Given the description of an element on the screen output the (x, y) to click on. 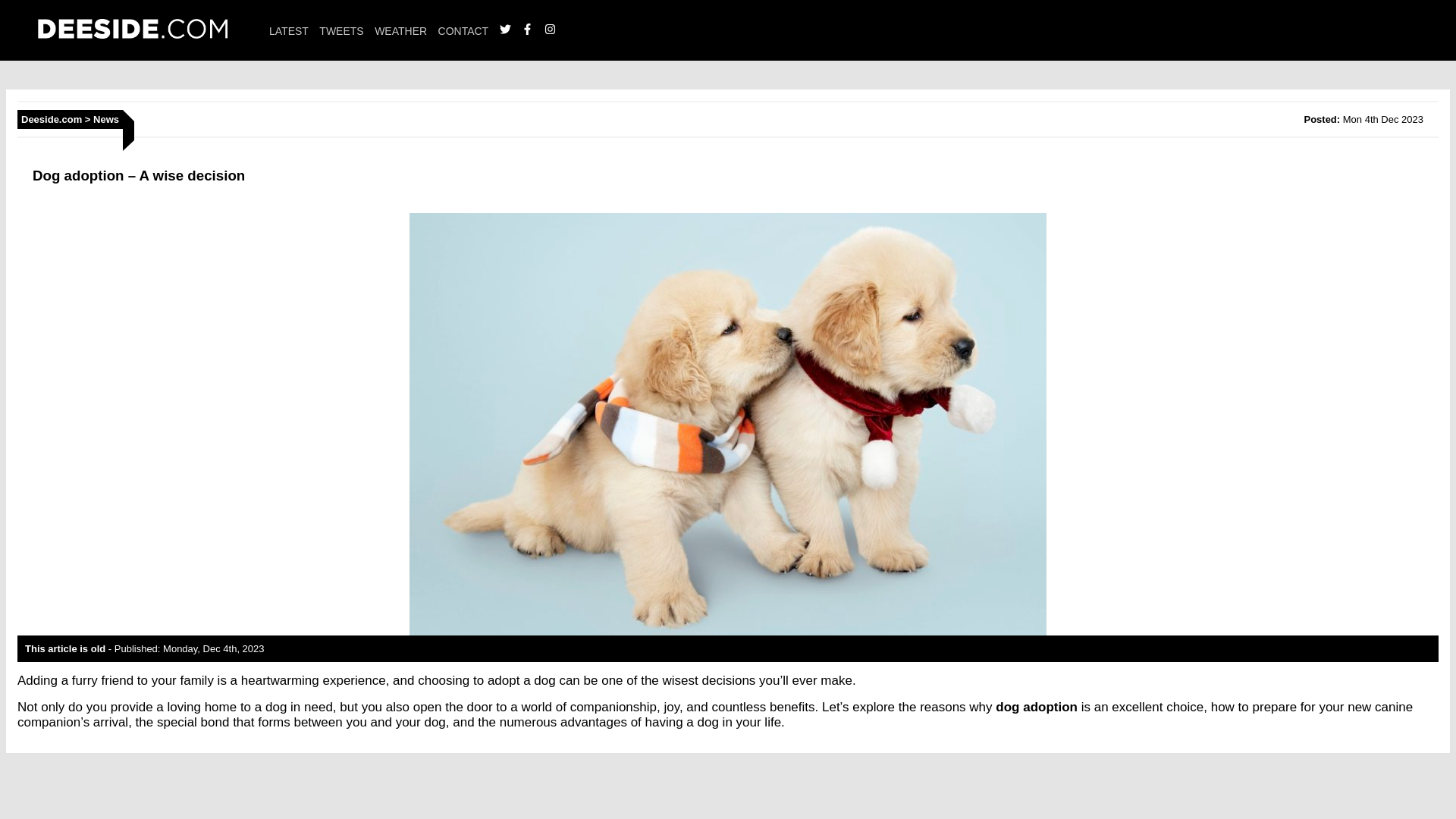
CONTACT (463, 30)
WEATHER (400, 30)
LATEST (288, 30)
TWEETS (340, 30)
